Given the description of an element on the screen output the (x, y) to click on. 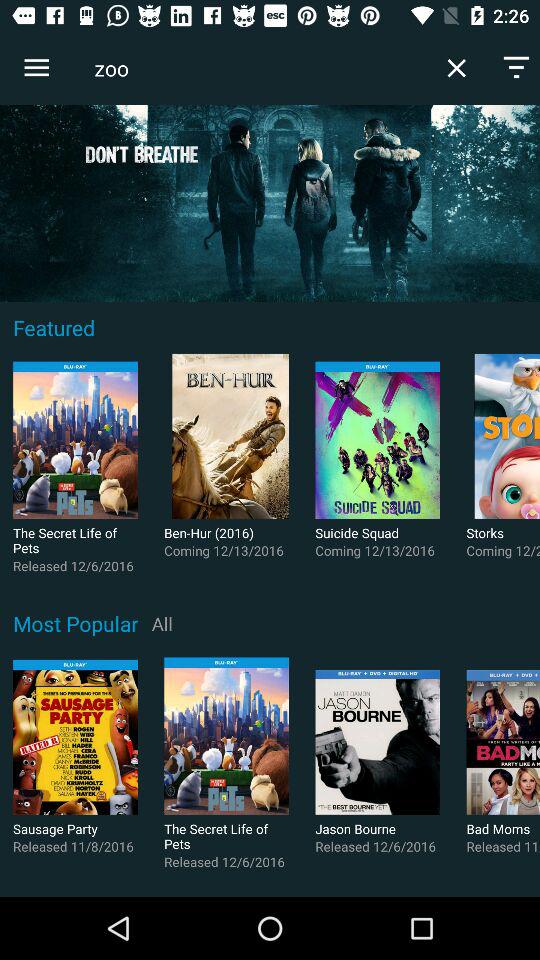
turn off icon below coming 12 13 (162, 623)
